Given the description of an element on the screen output the (x, y) to click on. 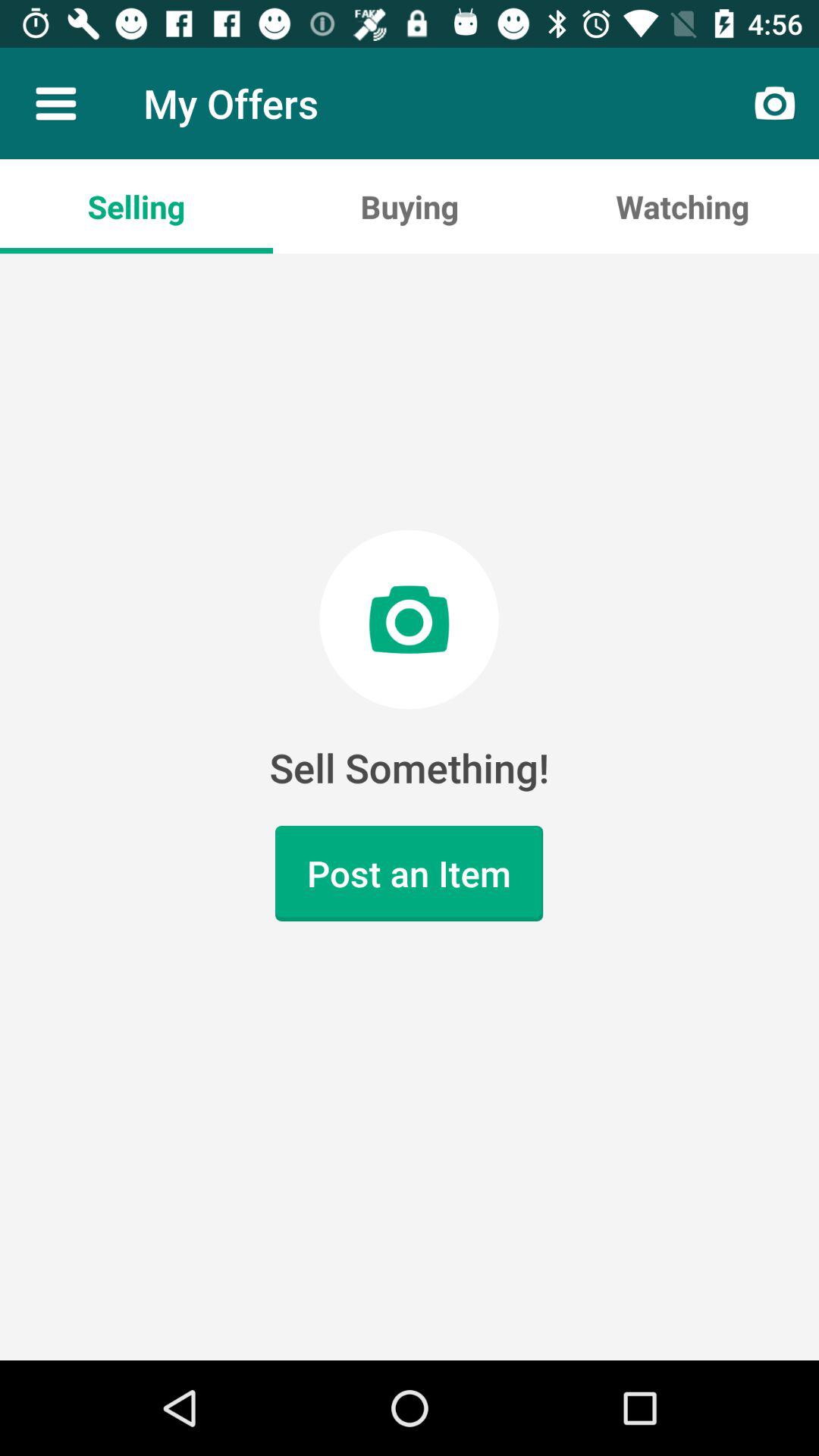
click icon next to my offers icon (55, 103)
